Given the description of an element on the screen output the (x, y) to click on. 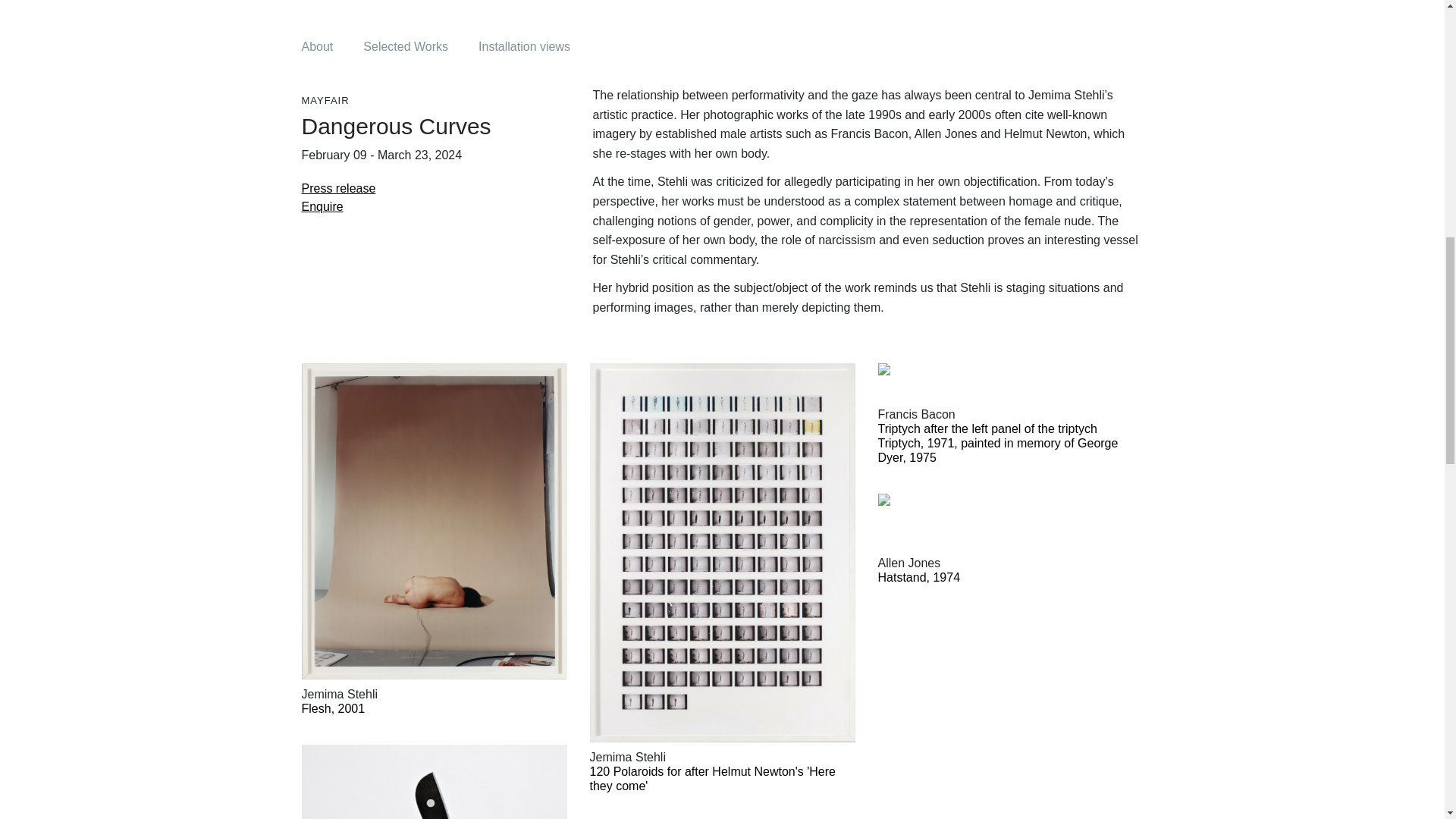
Press release (338, 178)
About (317, 46)
Enquire (322, 196)
Flesh, 2001 (428, 708)
120 Polaroids for after Helmut Newton's 'Here they come' (716, 778)
Installation views (524, 46)
Selected Works (405, 46)
